Given the description of an element on the screen output the (x, y) to click on. 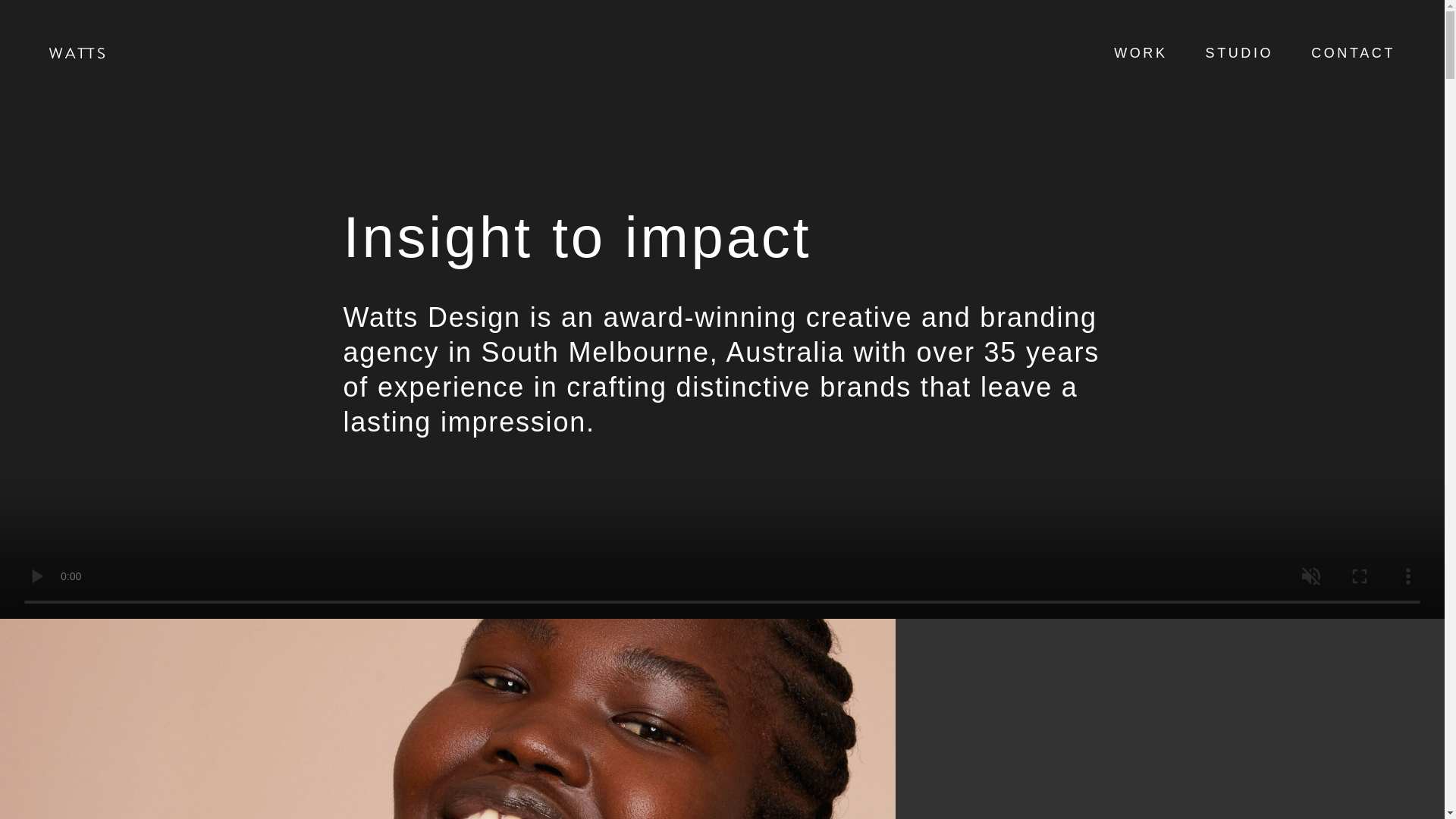
STUDIO (1239, 53)
WORK (1140, 53)
CONTACT (1352, 53)
